Given the description of an element on the screen output the (x, y) to click on. 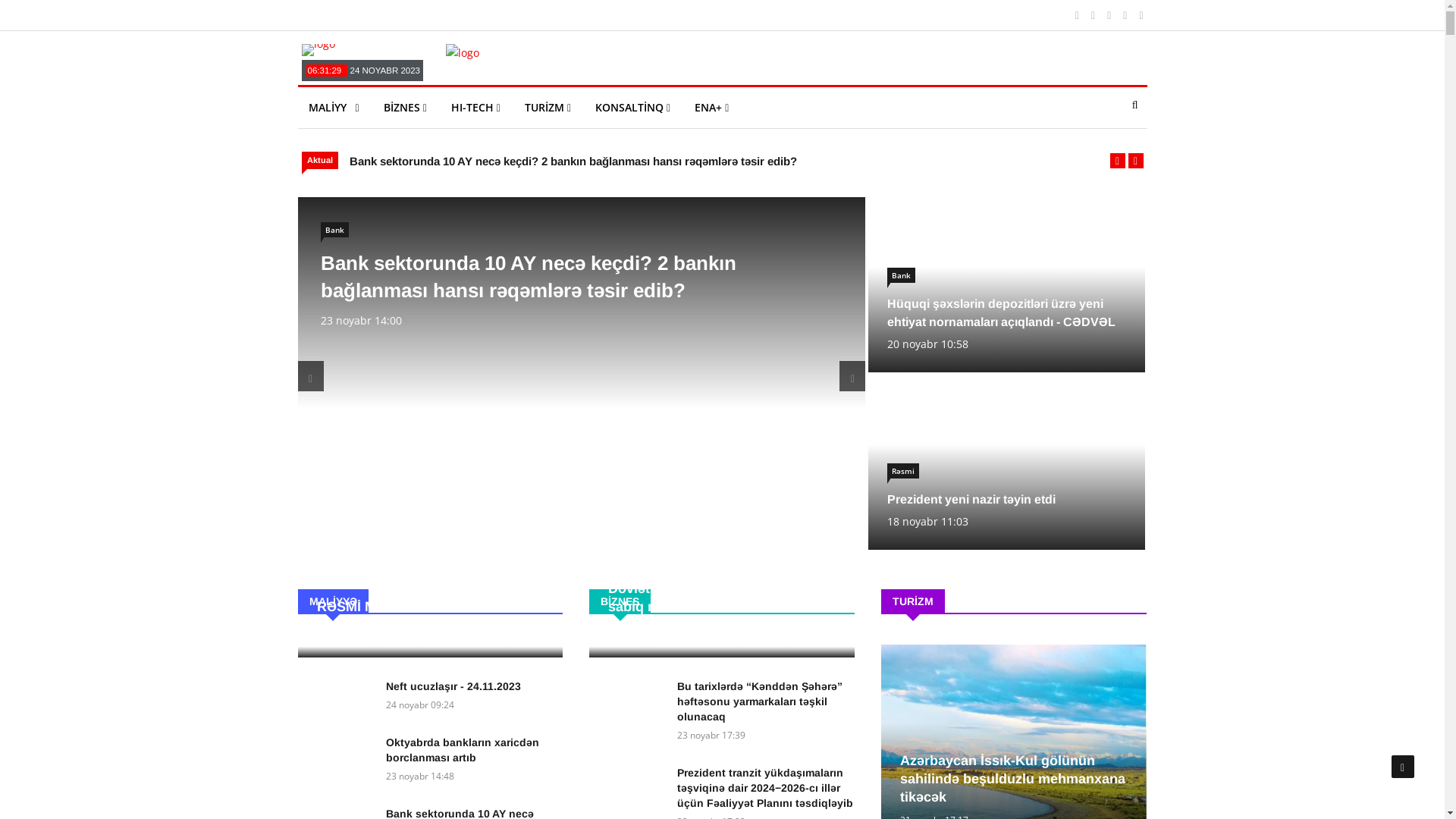
ENA+ Element type: text (711, 107)
Back to Top Element type: hover (1402, 766)
Bank Element type: text (334, 229)
Bank Element type: text (901, 274)
logo Element type: hover (462, 52)
logo Element type: hover (318, 49)
HI-TECH Element type: text (475, 107)
